Given the description of an element on the screen output the (x, y) to click on. 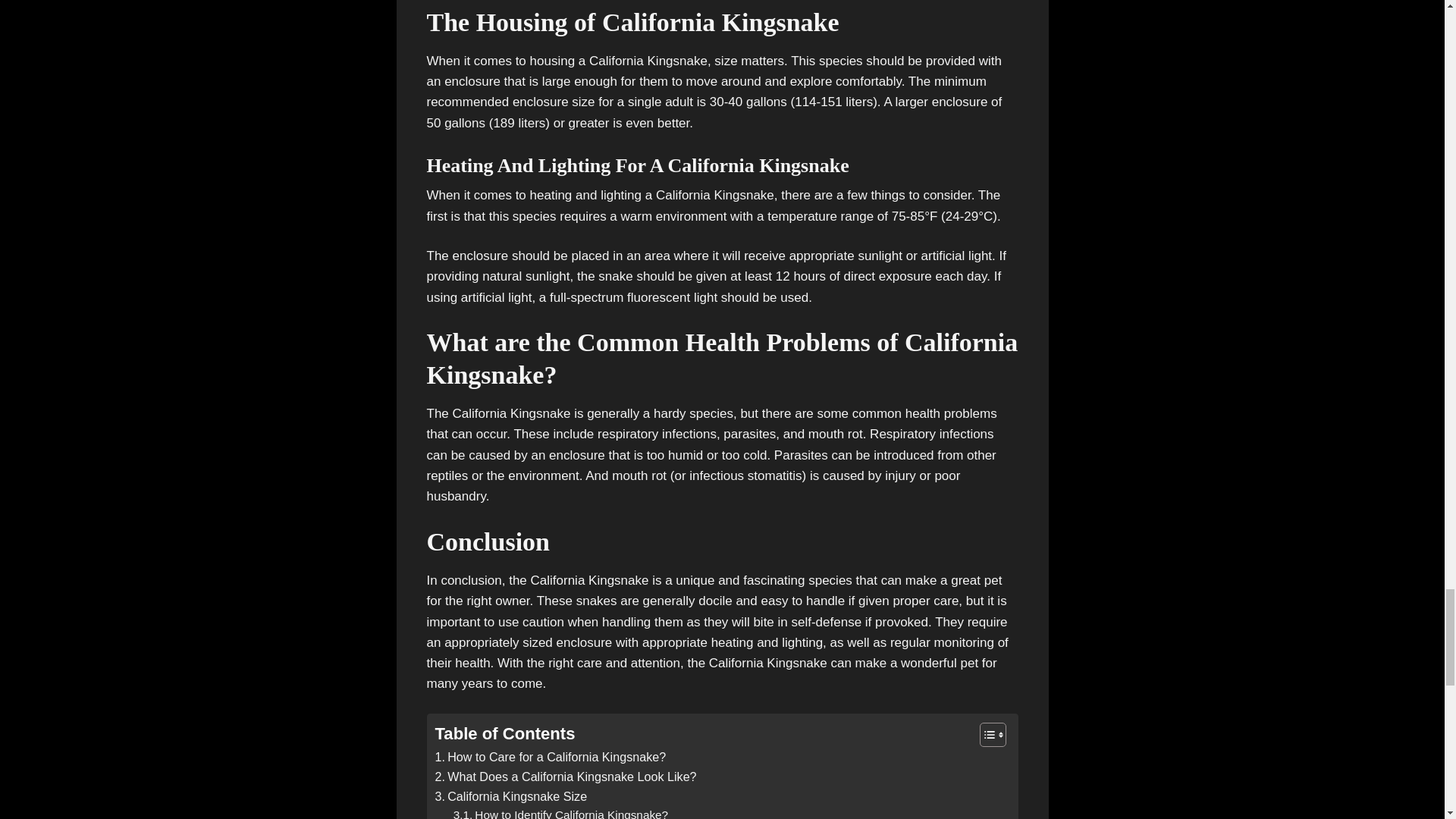
California Kingsnake Size (511, 796)
How to Care for a California Kingsnake? (550, 757)
How to Identify California Kingsnake? (560, 812)
How to Identify California Kingsnake? (560, 812)
California Kingsnake Size (511, 796)
How to Care for a California Kingsnake? (550, 757)
What Does a California Kingsnake Look Like? (566, 777)
What Does a California Kingsnake Look Like? (566, 777)
